Given the description of an element on the screen output the (x, y) to click on. 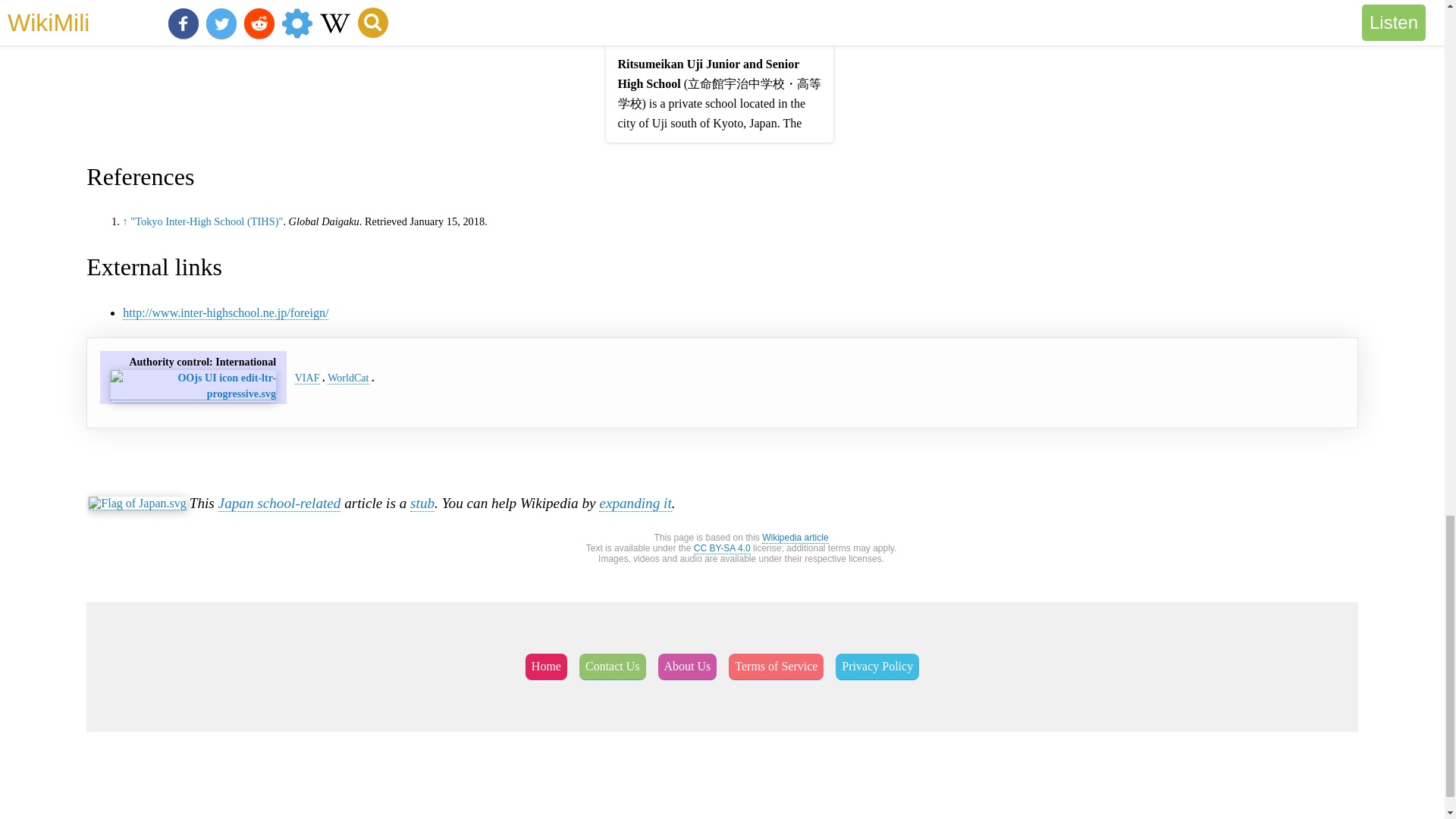
VIAF (307, 377)
Authority control (169, 361)
WorldCat (347, 377)
Japan school-related (279, 503)
stub (421, 503)
expanding it (634, 503)
